Given the description of an element on the screen output the (x, y) to click on. 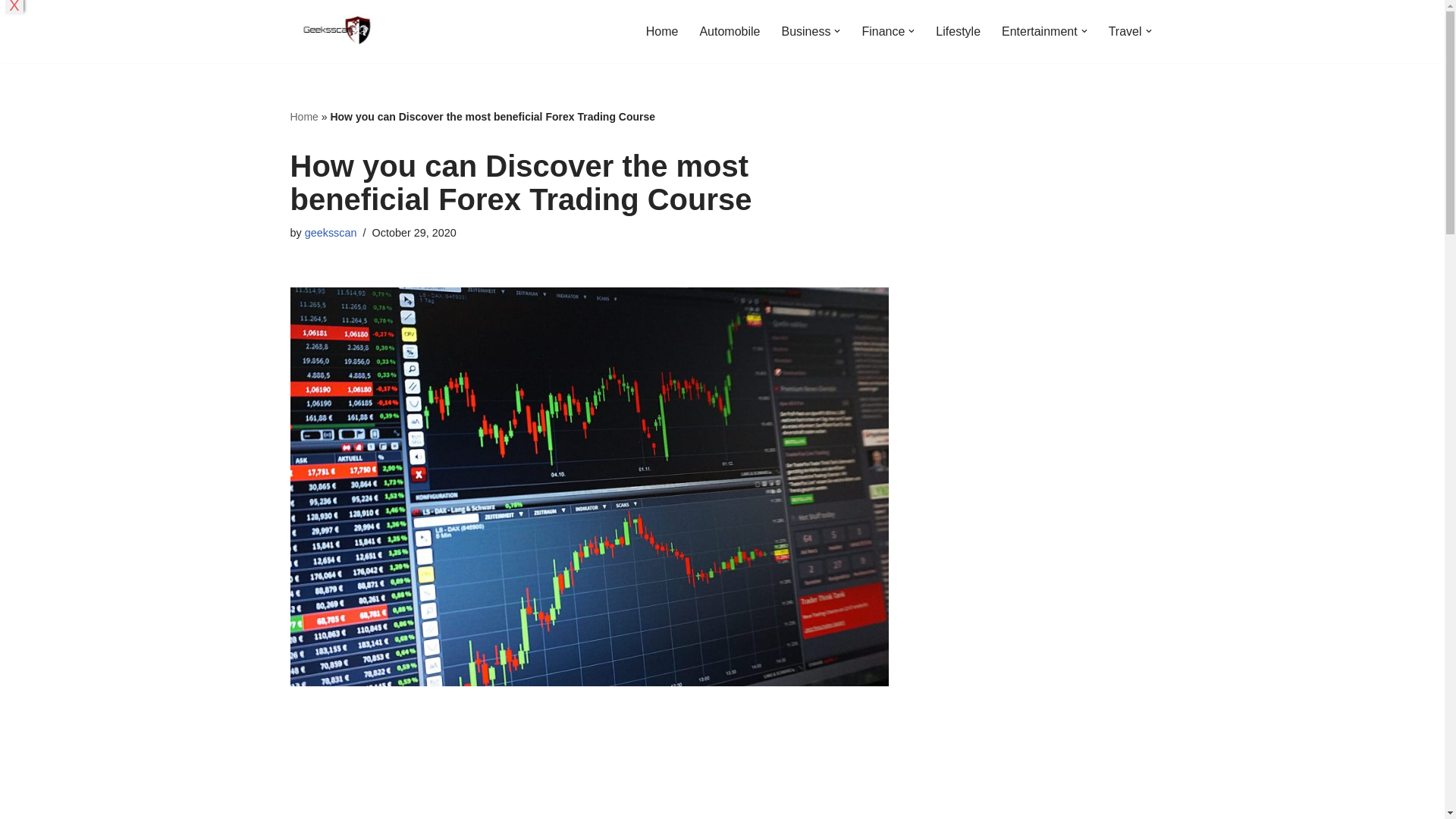
Home (662, 31)
Skip to content (11, 31)
Posts by geeksscan (330, 232)
Travel (1124, 31)
Entertainment (1039, 31)
Lifestyle (957, 31)
Automobile (729, 31)
Business (804, 31)
Finance (882, 31)
